Given the description of an element on the screen output the (x, y) to click on. 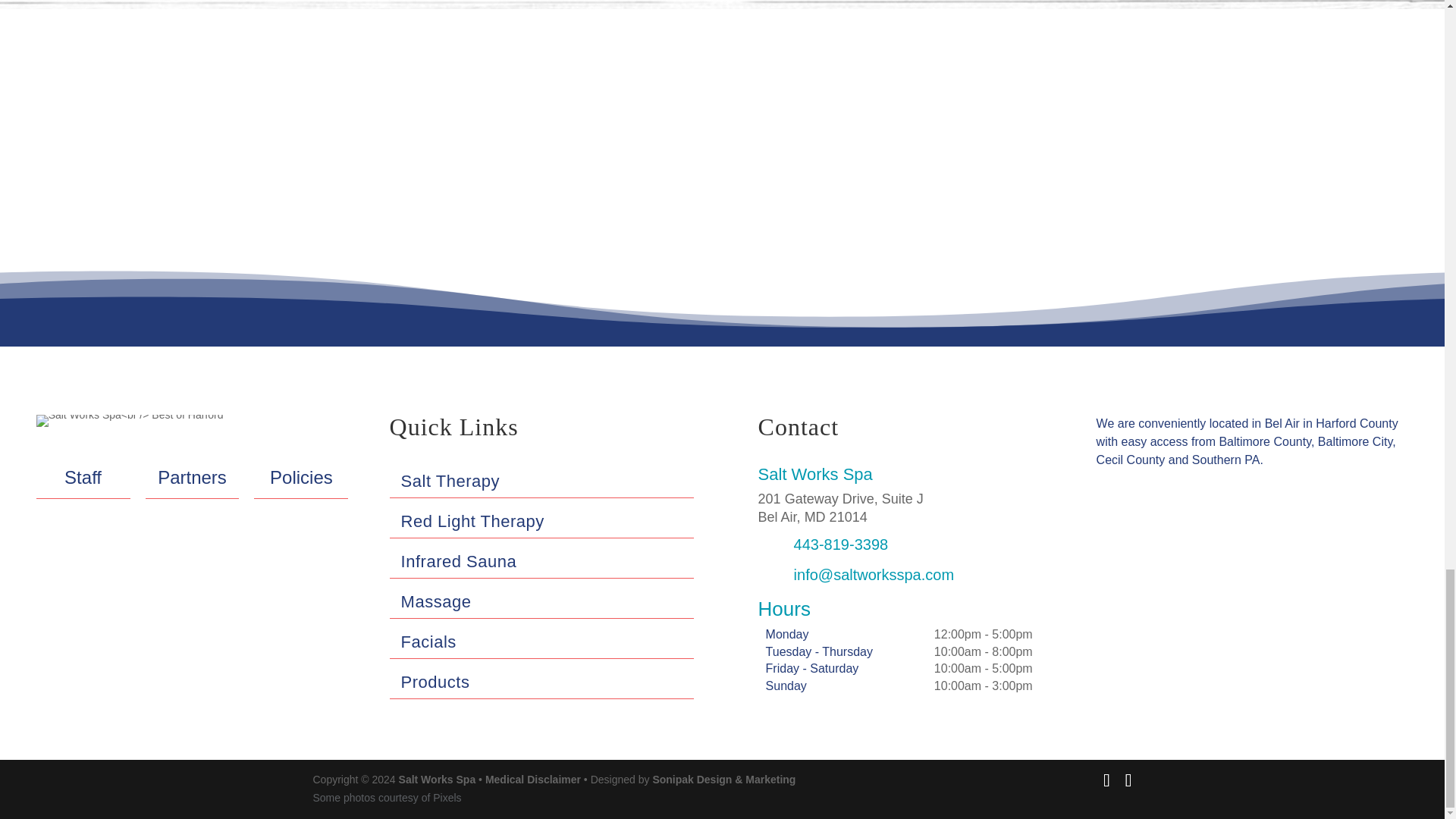
Salt-Works-Spa-Logo-Best-of-Harford-520x390 (130, 420)
